Given the description of an element on the screen output the (x, y) to click on. 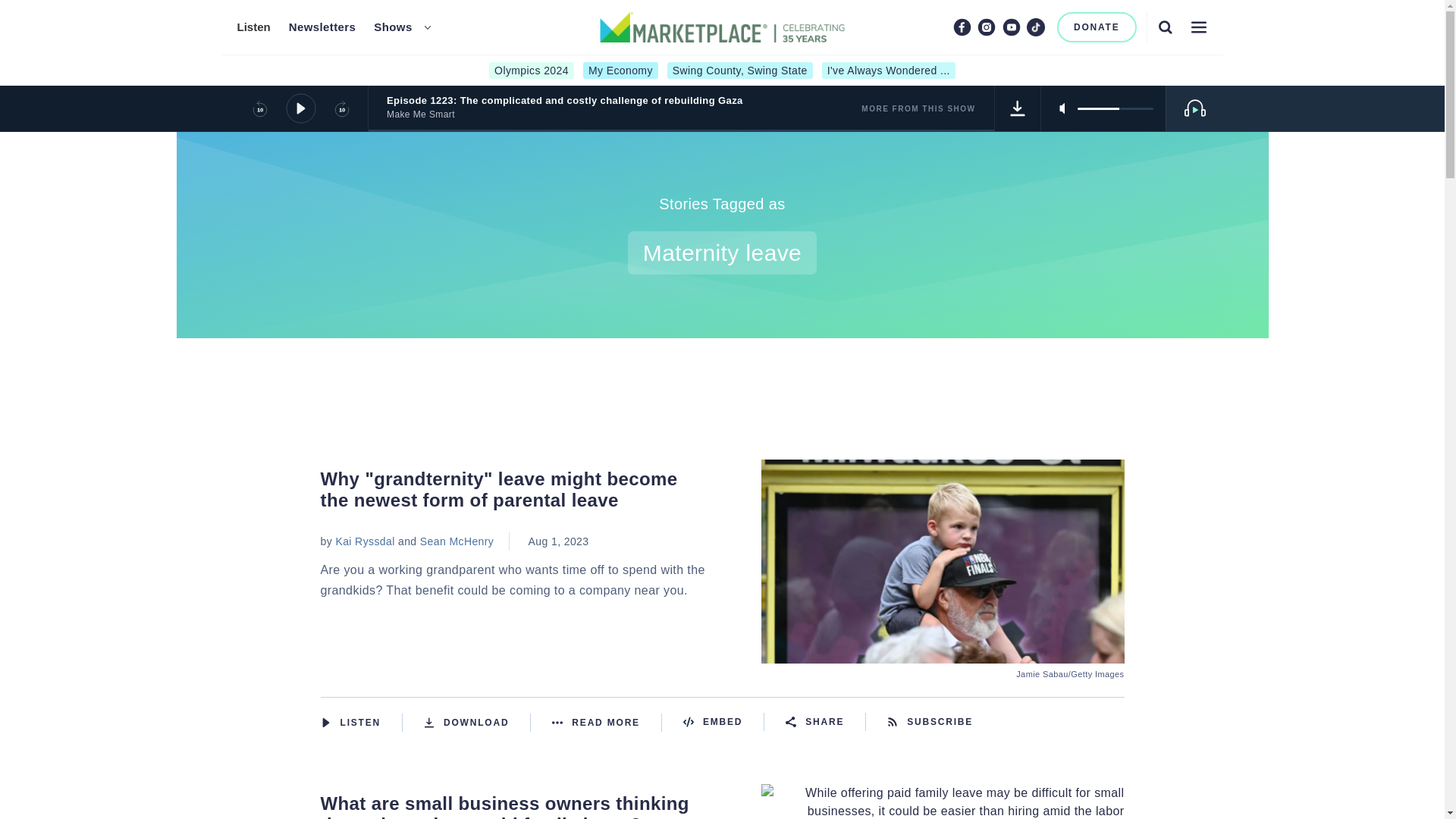
Download Track (1017, 108)
volume (1115, 108)
Newsletters (322, 27)
Facebook (962, 27)
Listen Now (360, 722)
Instagram (985, 27)
Listen (252, 26)
Shows (393, 26)
TikTok (1035, 27)
